Given the description of an element on the screen output the (x, y) to click on. 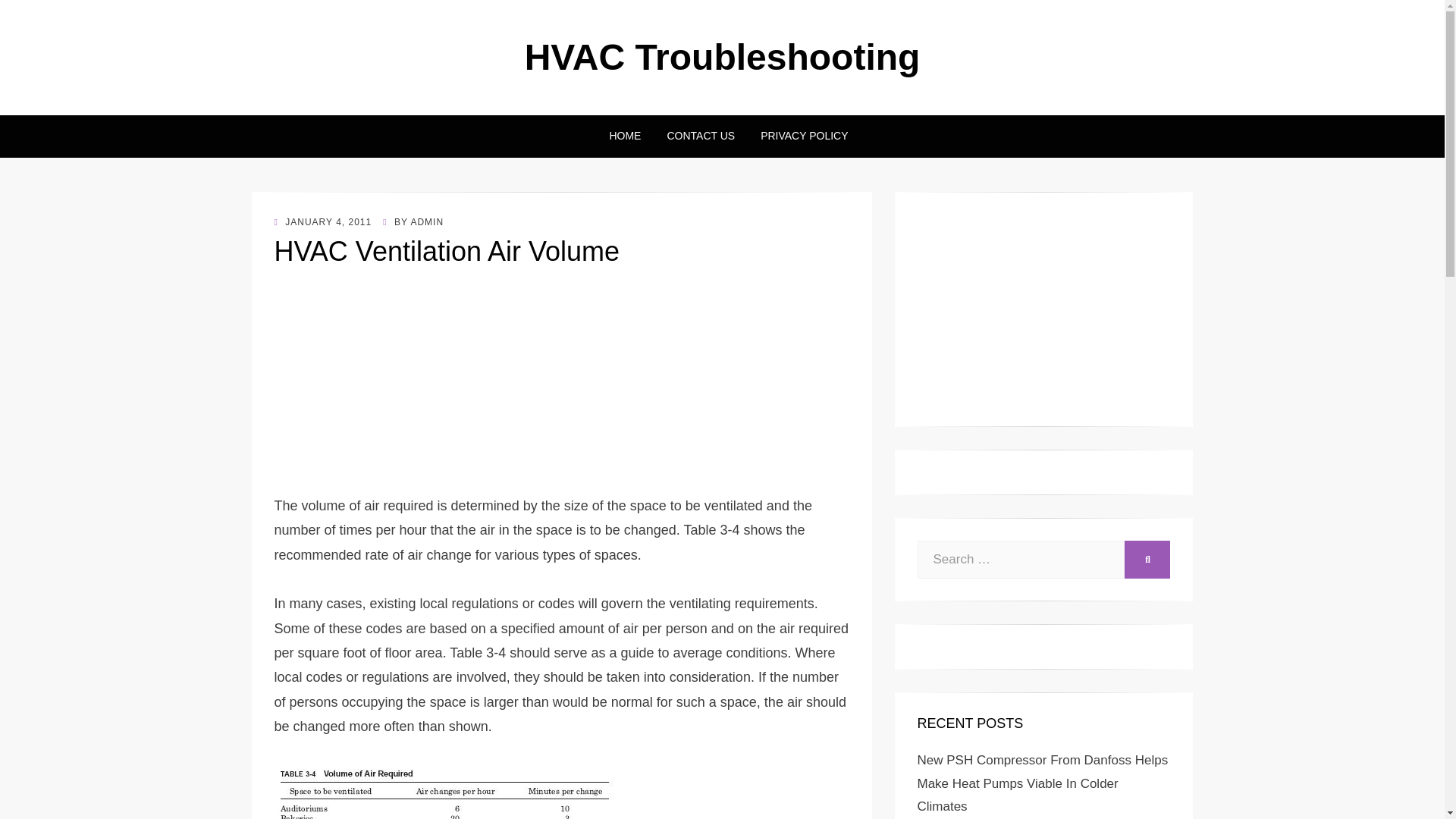
Search for: (1021, 559)
SEARCH (1147, 559)
HOME (624, 135)
JANUARY 4, 2011 (323, 222)
CONTACT US (700, 135)
HVAC Troubleshooting (722, 56)
HVAC Troubleshooting (722, 56)
PRIVACY POLICY (797, 135)
ADMIN (427, 222)
